Given the description of an element on the screen output the (x, y) to click on. 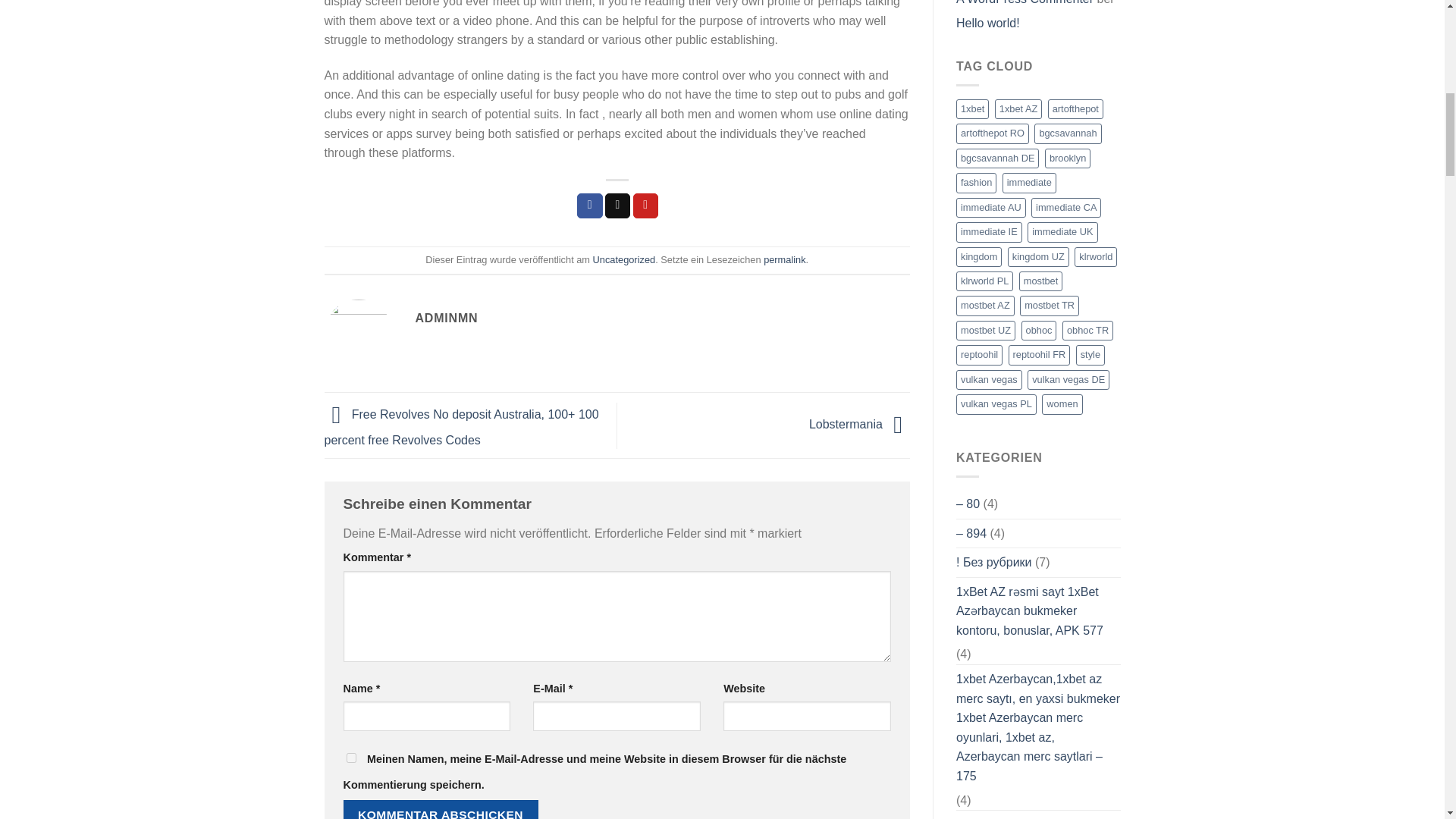
Kommentar abschicken (439, 809)
Auf Facebook teilen (589, 206)
Pinterest pin erstellen (646, 206)
yes (350, 757)
Sende eine Email an einen Freund (617, 206)
Permalink to Some great benefits of Online Dating (783, 259)
